Given the description of an element on the screen output the (x, y) to click on. 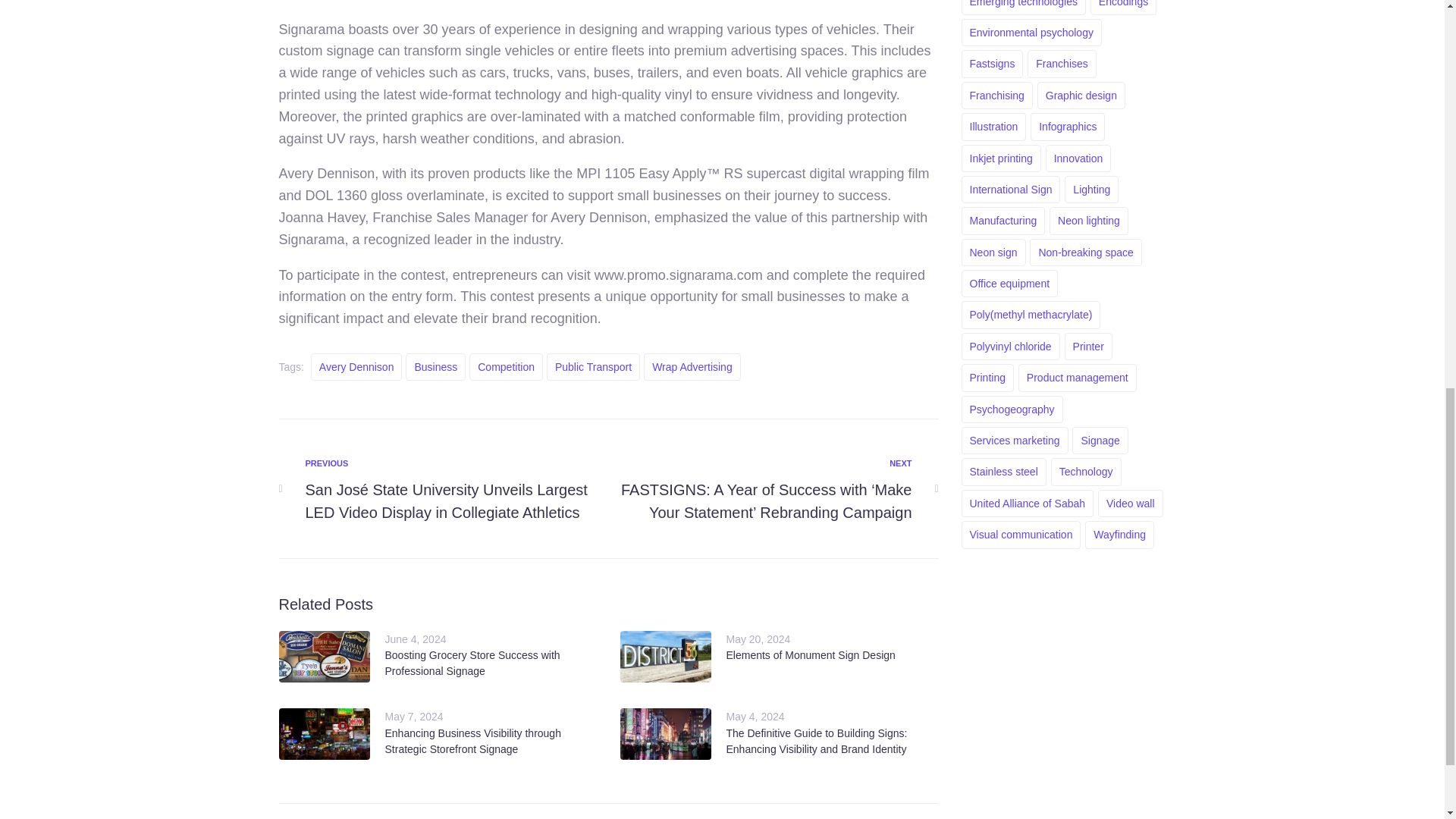
Public Transport (593, 366)
Elements of Monument Sign Design (810, 654)
Competition (505, 366)
Avery Dennison (357, 366)
Wrap Advertising (692, 366)
Business (435, 366)
Boosting Grocery Store Success with Professional Signage (472, 663)
